Given the description of an element on the screen output the (x, y) to click on. 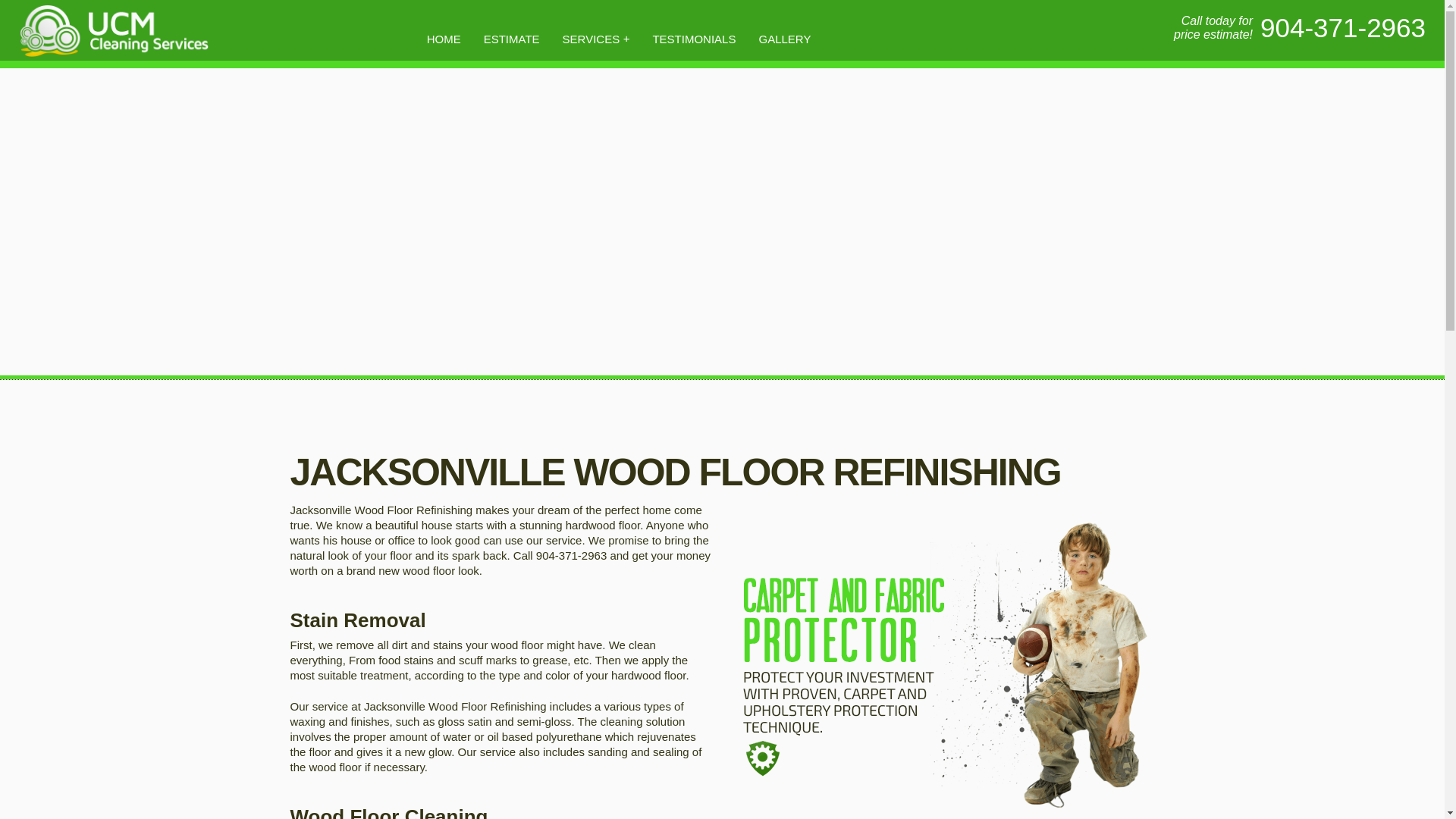
TESTIMONIALS (693, 37)
GALLERY (784, 37)
jacksonvillecarpetcleaning.com (113, 30)
904-371-2963 (1342, 27)
ESTIMATE (511, 37)
HOME (442, 37)
